Given the description of an element on the screen output the (x, y) to click on. 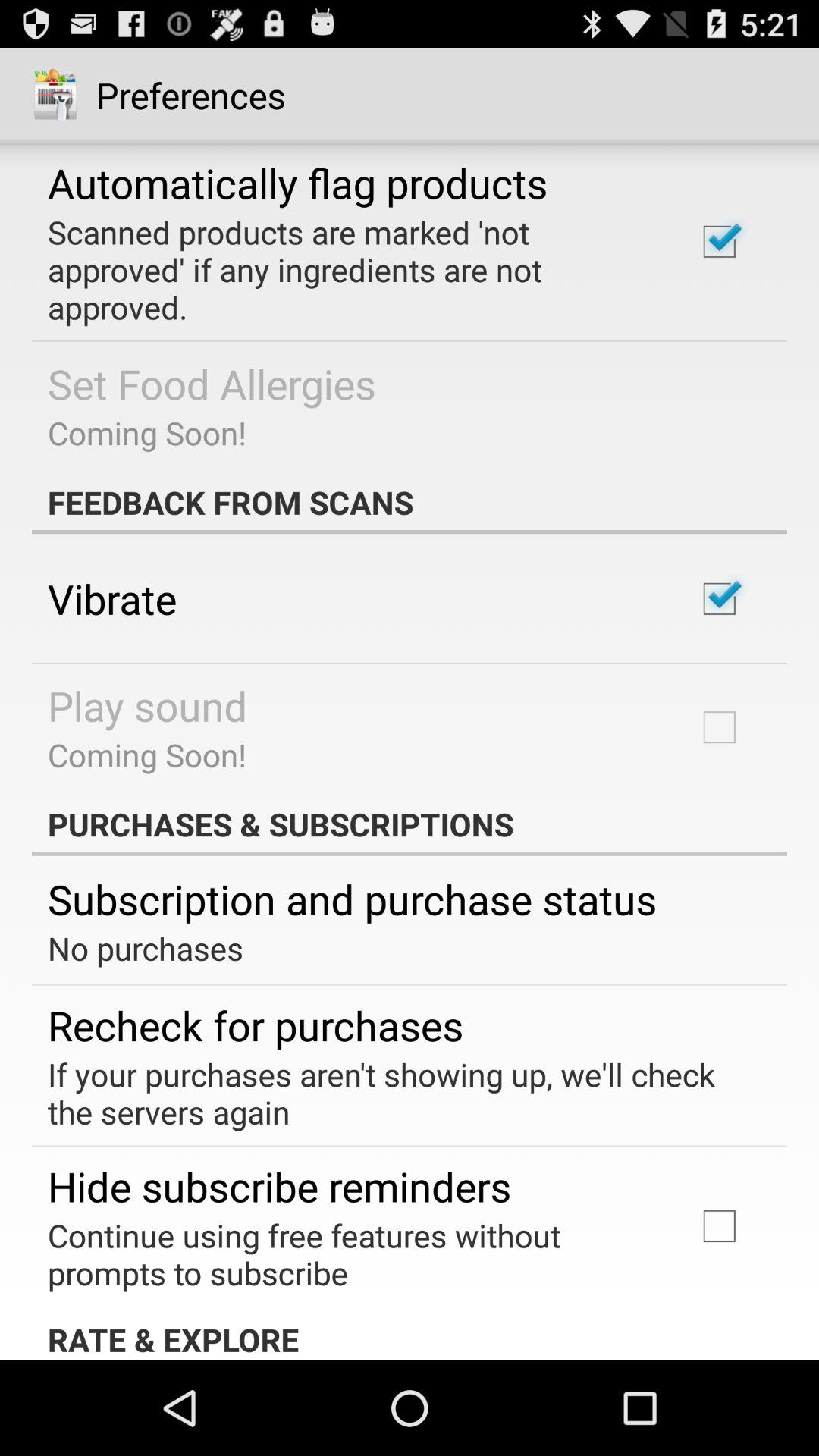
choose the continue using free app (351, 1253)
